Given the description of an element on the screen output the (x, y) to click on. 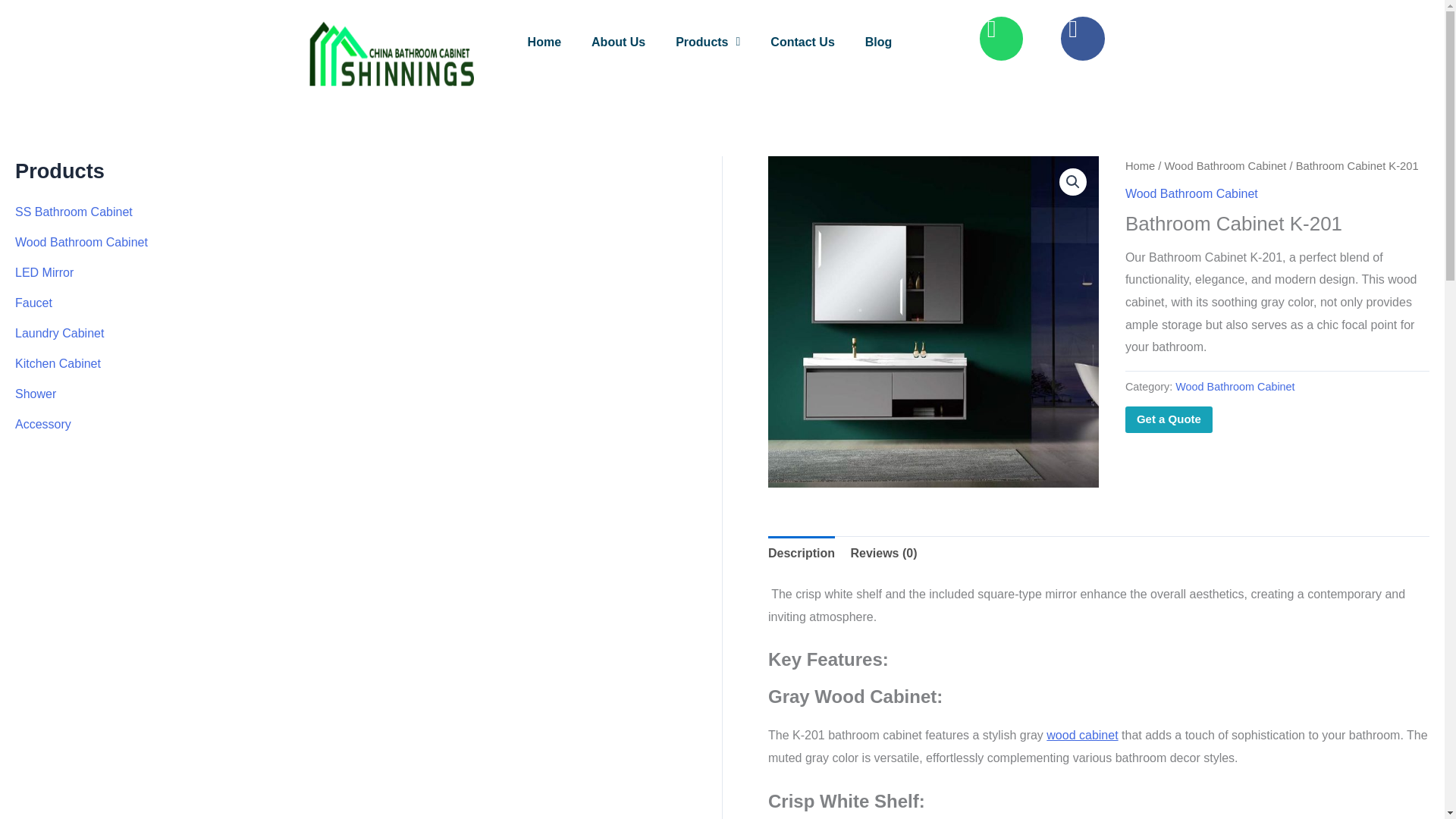
SS Bathroom Cabinet (73, 211)
Laundry Cabinet (58, 332)
Whatsapp (1001, 38)
Contact Us (802, 41)
Wood Bathroom Cabinet (81, 241)
K-201 (933, 321)
Blog (878, 41)
Products (707, 41)
Accessory (42, 423)
About Us (618, 41)
